Given the description of an element on the screen output the (x, y) to click on. 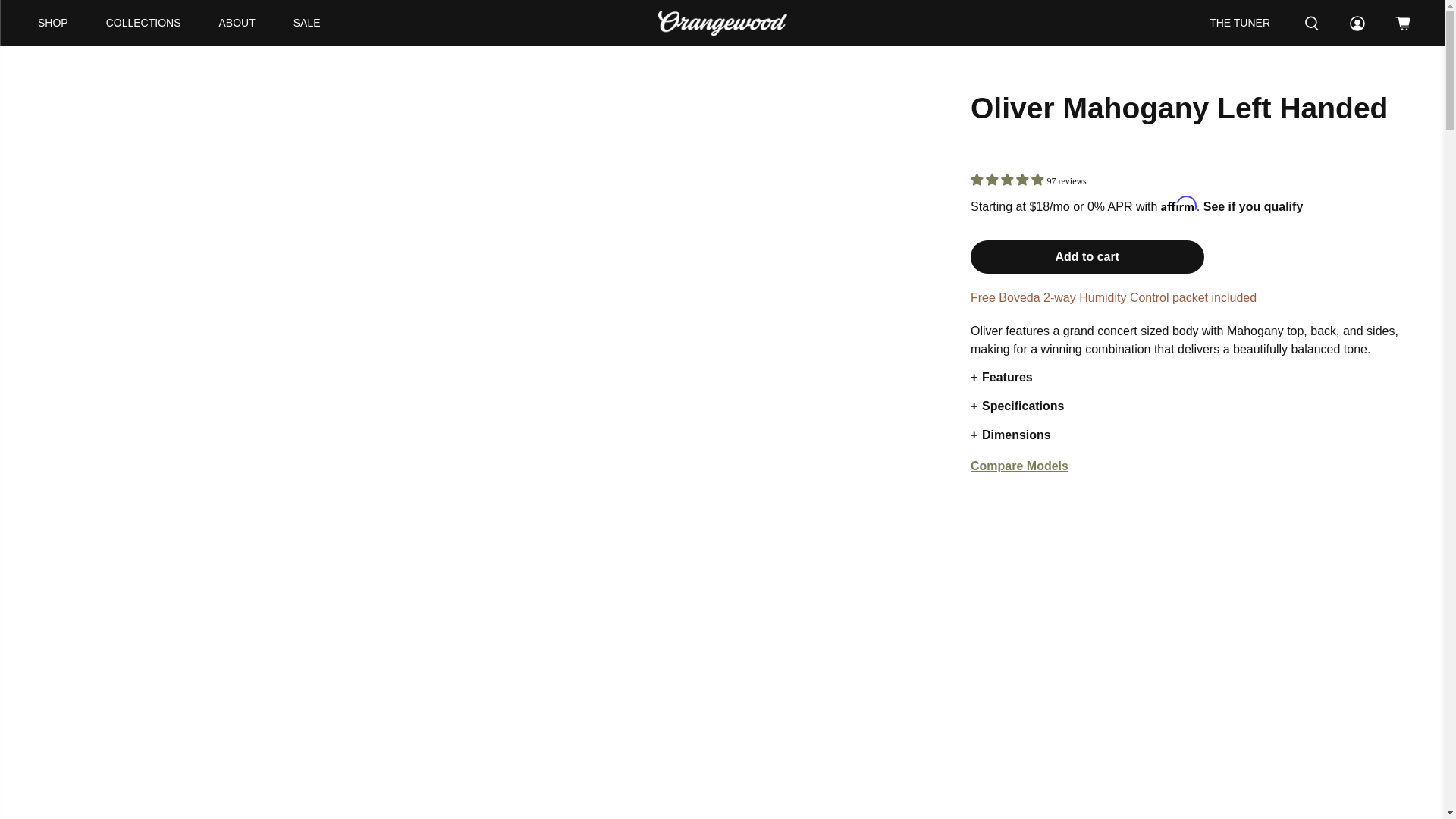
THE TUNER (1239, 22)
COLLECTIONS (143, 22)
Orangewood (722, 23)
SHOP (52, 22)
ABOUT (237, 22)
SALE (307, 22)
